Given the description of an element on the screen output the (x, y) to click on. 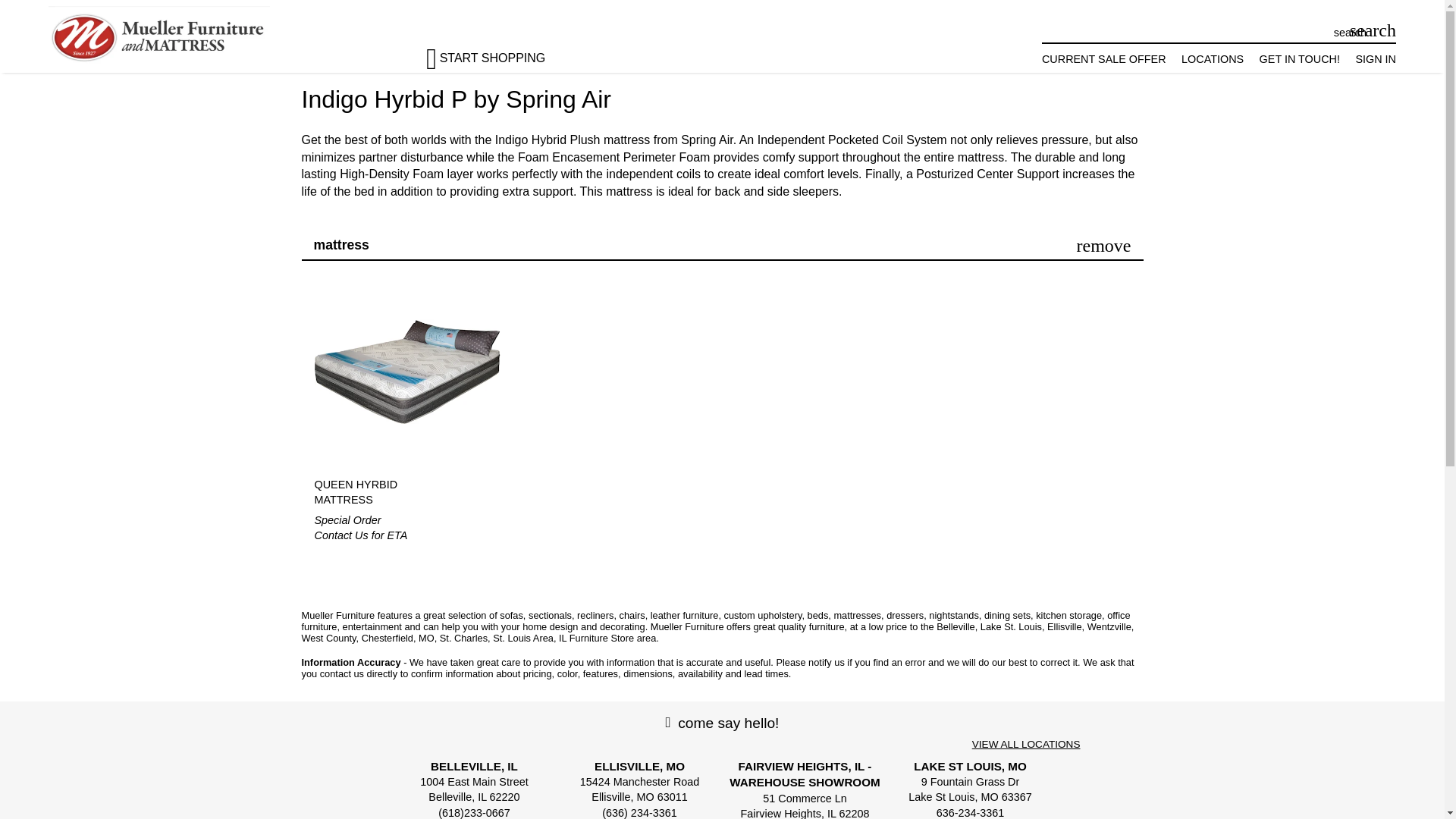
Click to view this Item. (381, 491)
Click to view this Item. (406, 372)
START SHOPPING (499, 51)
